Given the description of an element on the screen output the (x, y) to click on. 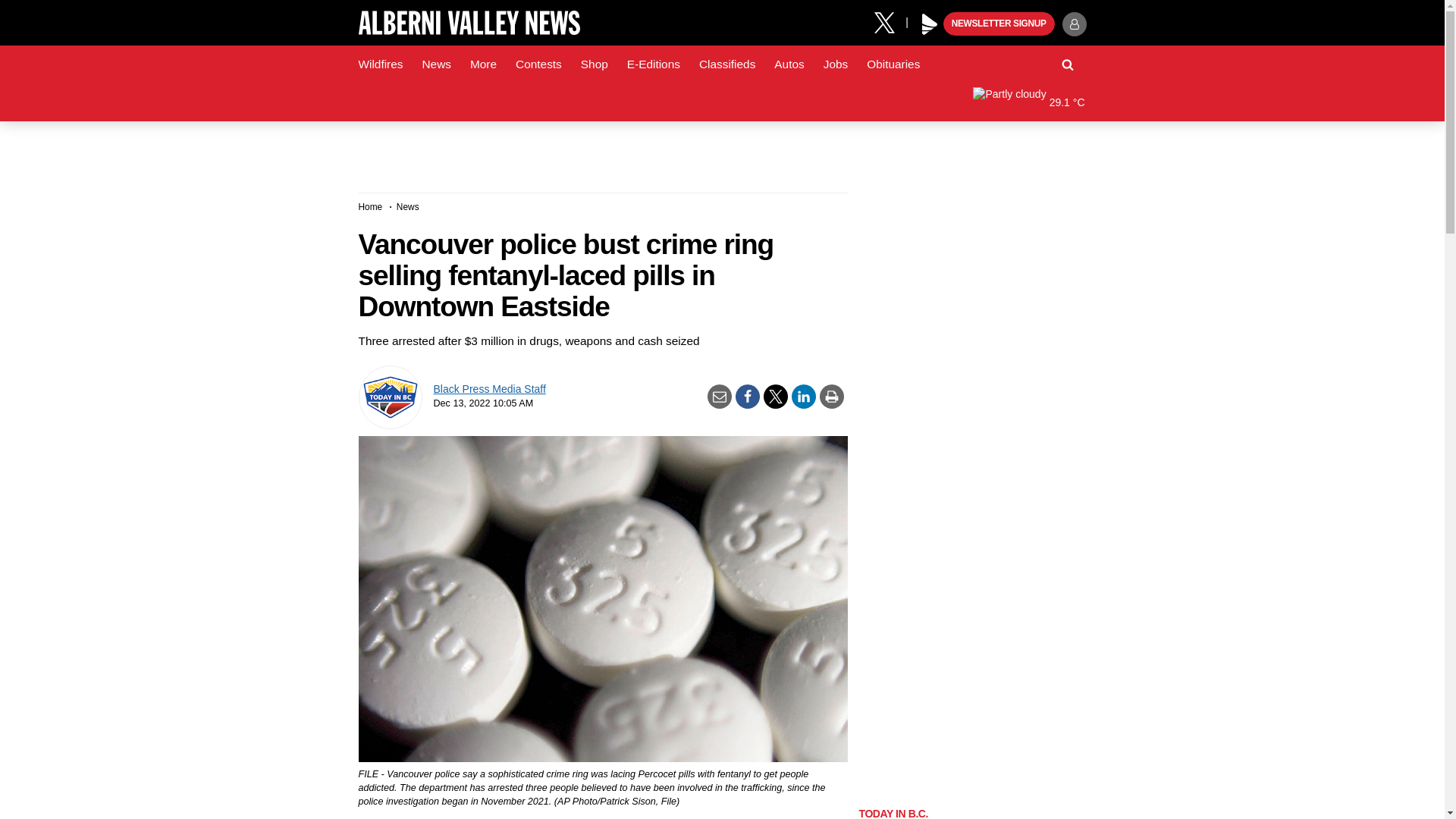
X (889, 21)
Play (929, 24)
News (435, 64)
Black Press Media (929, 24)
NEWSLETTER SIGNUP (998, 24)
Wildfires (380, 64)
